Given the description of an element on the screen output the (x, y) to click on. 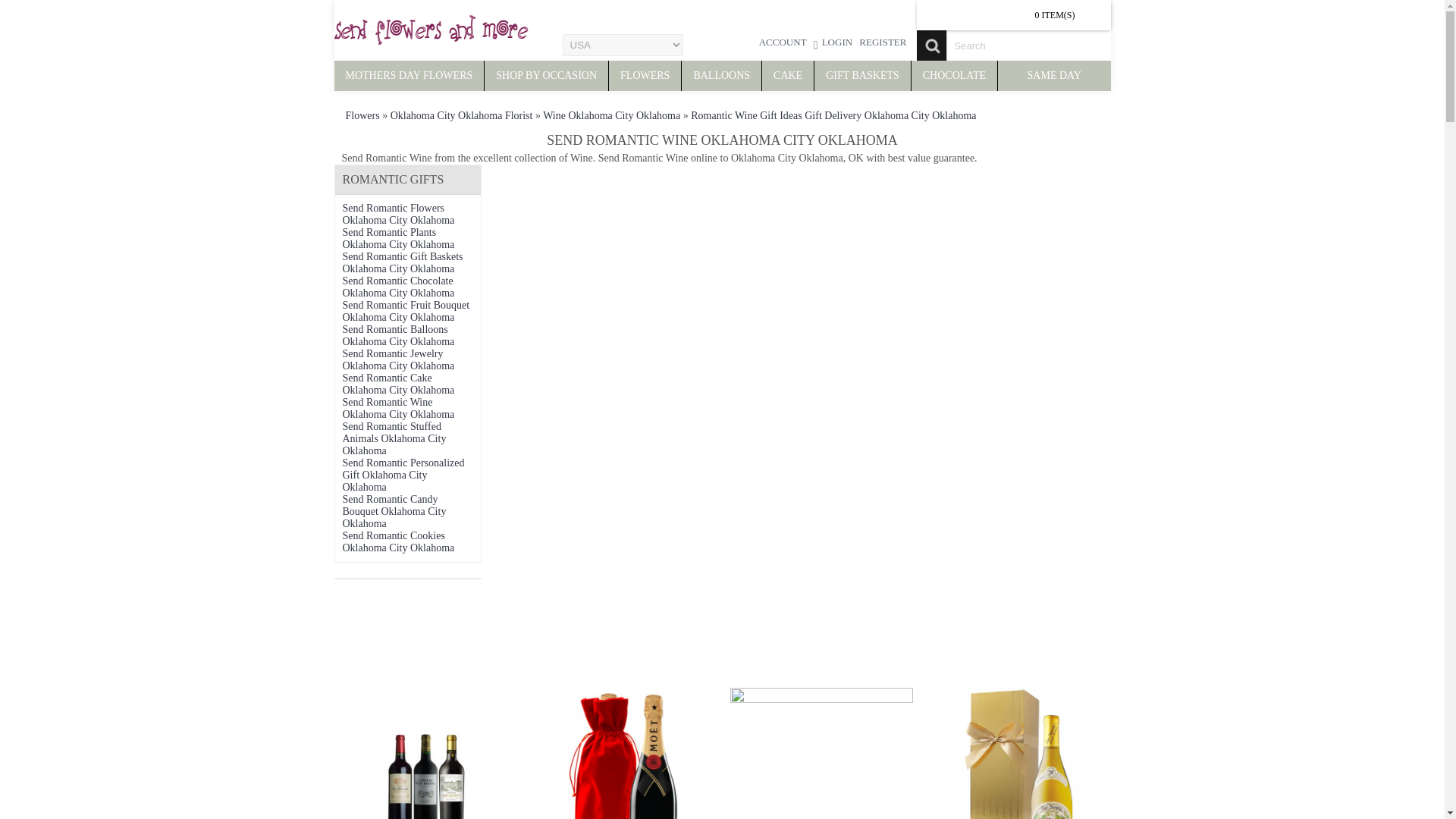
ACCOUNT (783, 43)
Send Romantic Chocolate Oklahoma City Oklahoma (398, 286)
Wine Oklahoma City Oklahoma (611, 115)
Send Romantic Plants Oklahoma City Oklahoma (398, 238)
LOGIN (832, 43)
Send Romantic Balloons Oklahoma City Oklahoma (398, 335)
Send Romantic Gift Baskets Oklahoma City Oklahoma (402, 262)
SAME DAY (1053, 75)
Wine Oklahoma City Oklahoma (611, 115)
Send Romantic Fruit Bouquet Oklahoma City Oklahoma (406, 310)
sendflowersandmore.com (430, 30)
CHOCOLATE (954, 75)
BALLOONS (721, 75)
